Given the description of an element on the screen output the (x, y) to click on. 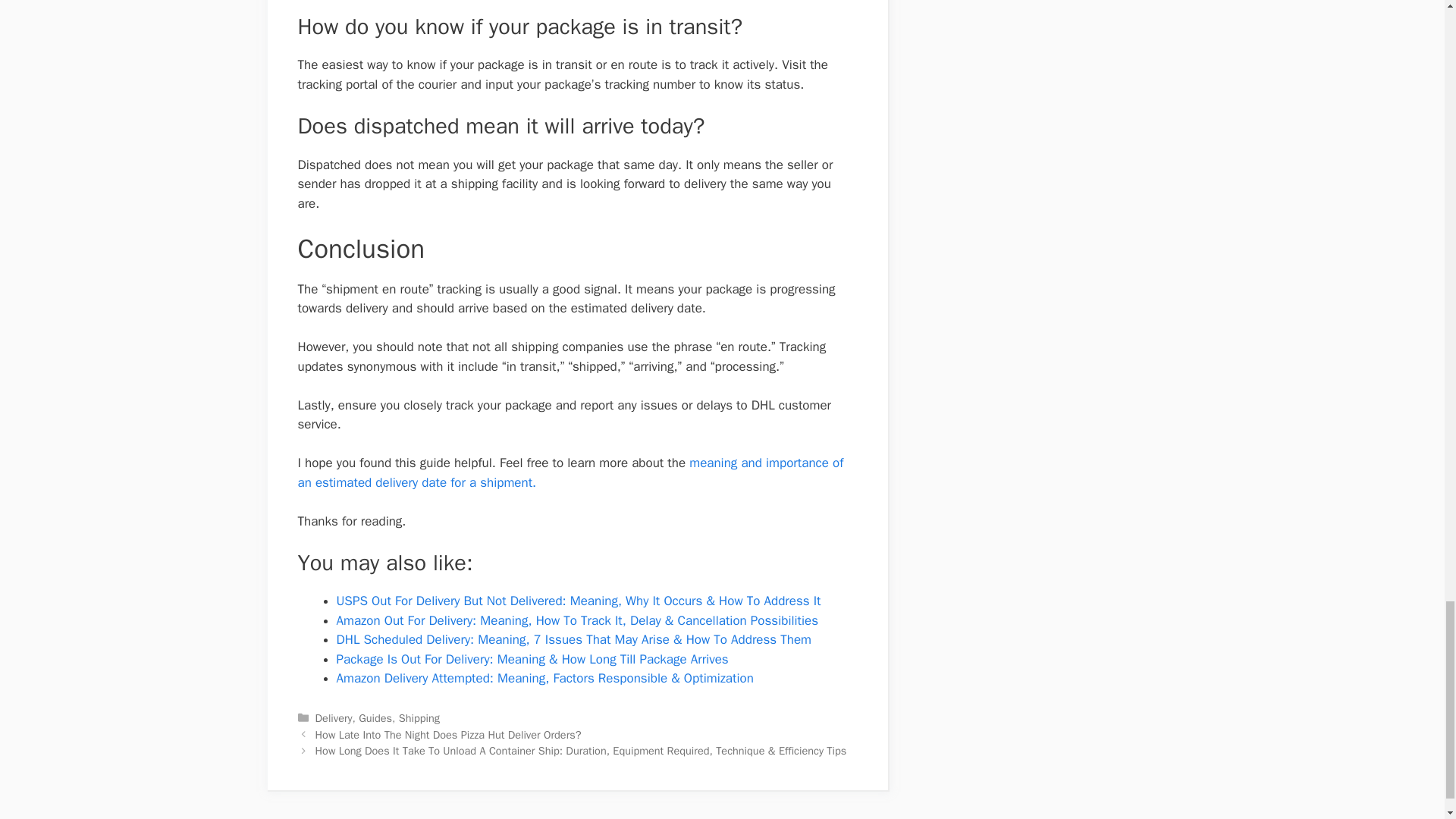
How Late Into The Night Does Pizza Hut Deliver Orders? (447, 735)
Delivery (333, 717)
Shipping (418, 717)
Guides (374, 717)
